Given the description of an element on the screen output the (x, y) to click on. 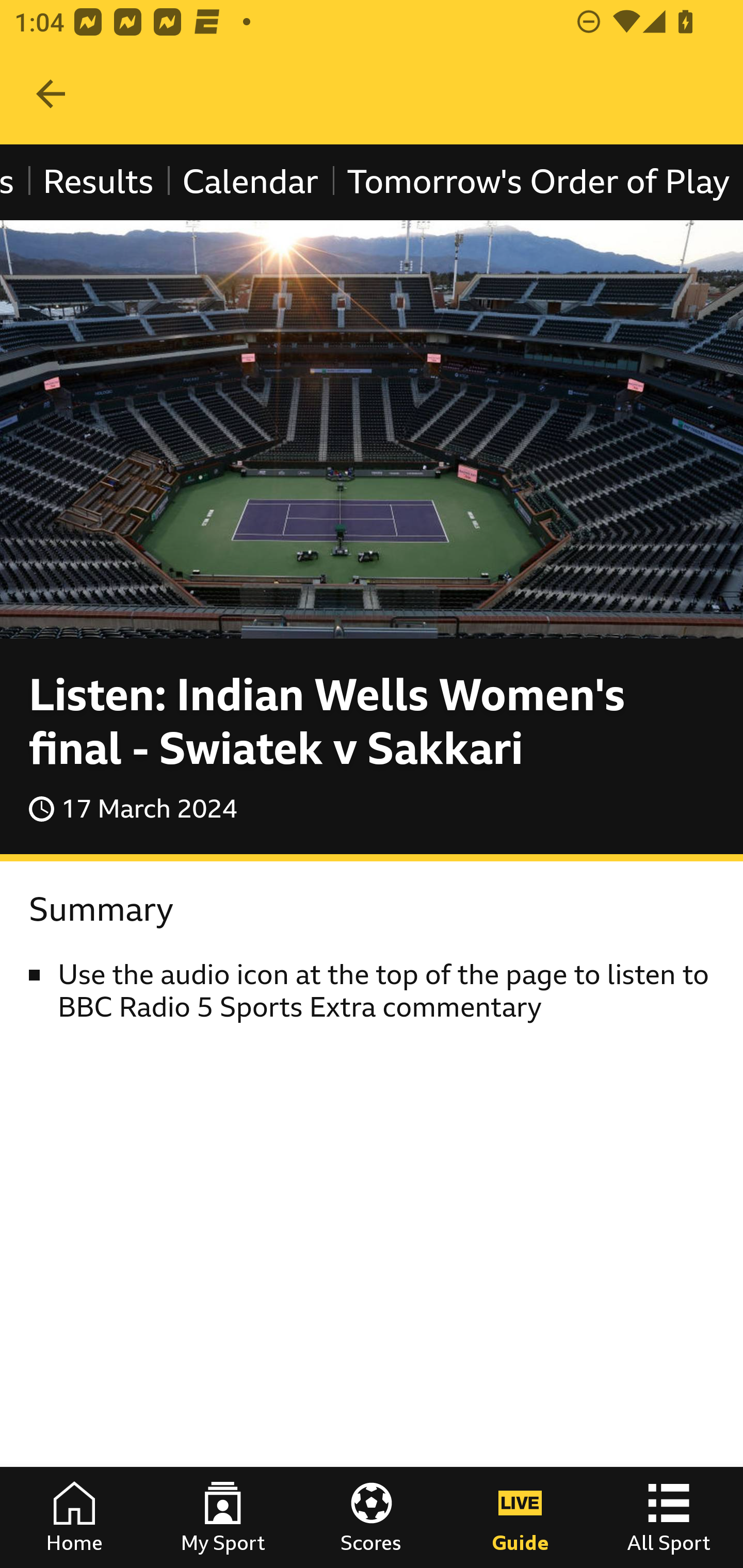
Navigate up (50, 93)
Results (97, 181)
Calendar (249, 181)
Tomorrow's Order of Play (537, 181)
Home (74, 1517)
My Sport (222, 1517)
Scores (371, 1517)
All Sport (668, 1517)
